Given the description of an element on the screen output the (x, y) to click on. 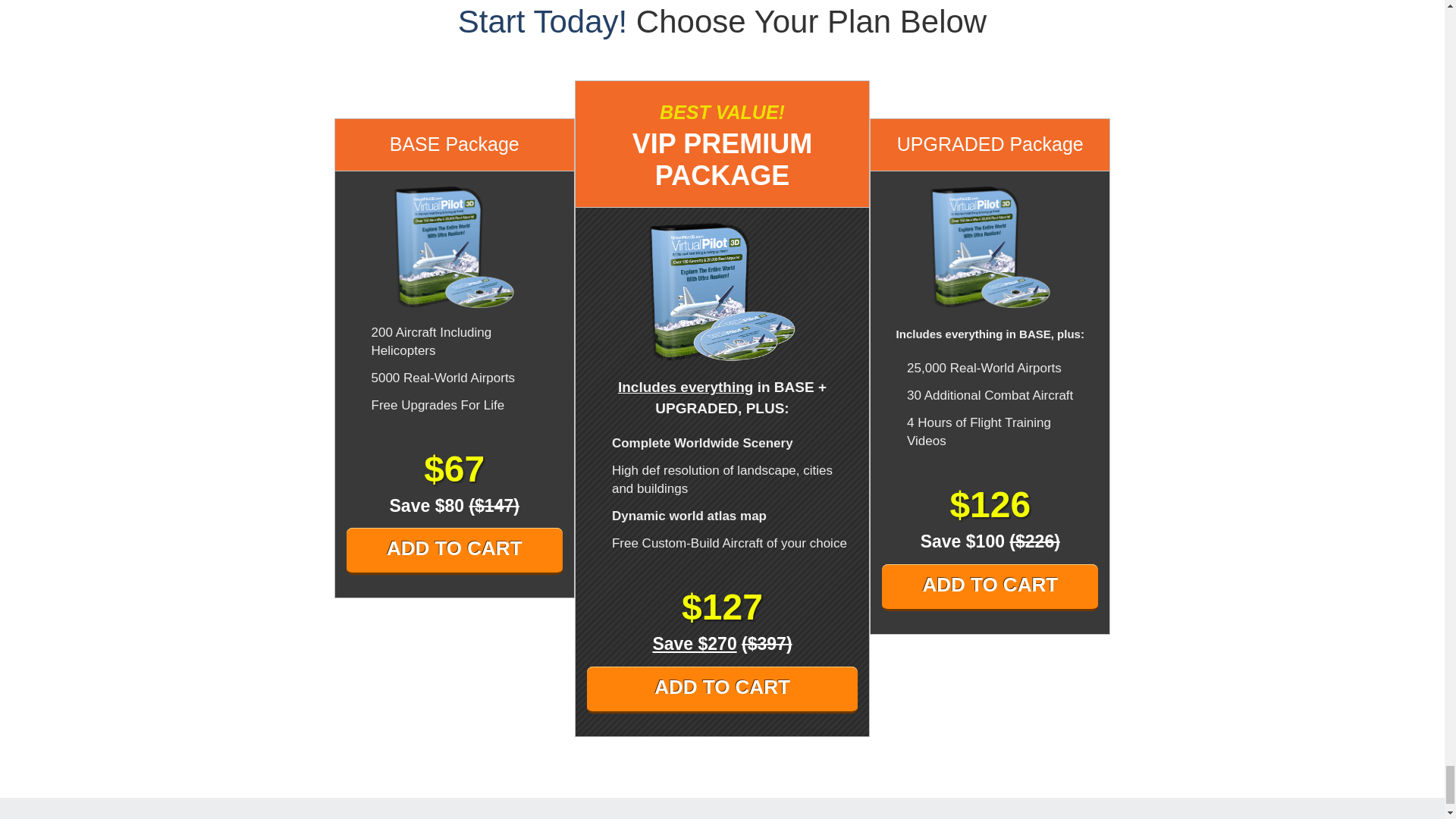
ADD TO CART (454, 550)
ADD TO CART (721, 689)
ADD TO CART (989, 587)
